Given the description of an element on the screen output the (x, y) to click on. 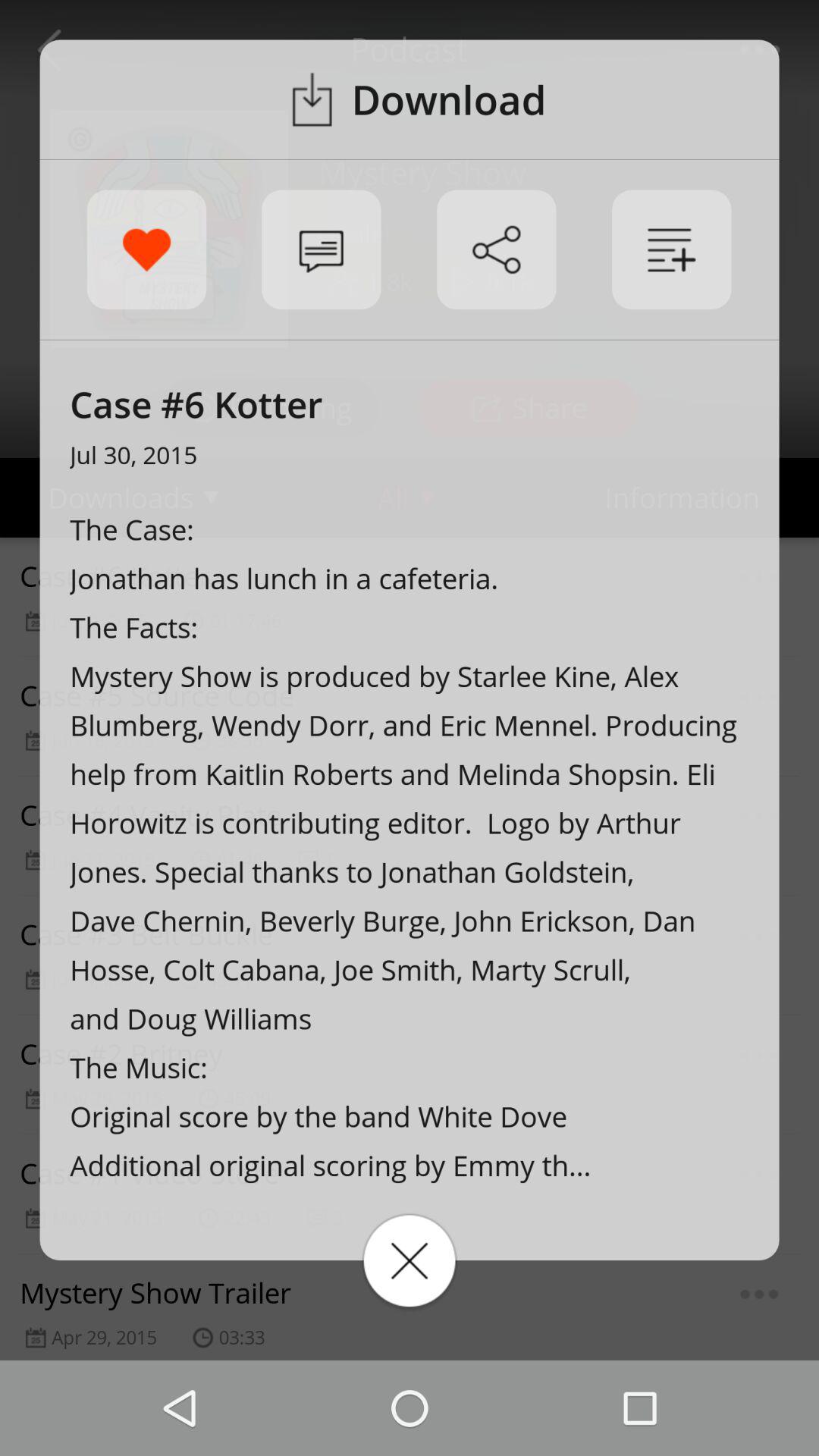
mark as a favorite (146, 249)
